Given the description of an element on the screen output the (x, y) to click on. 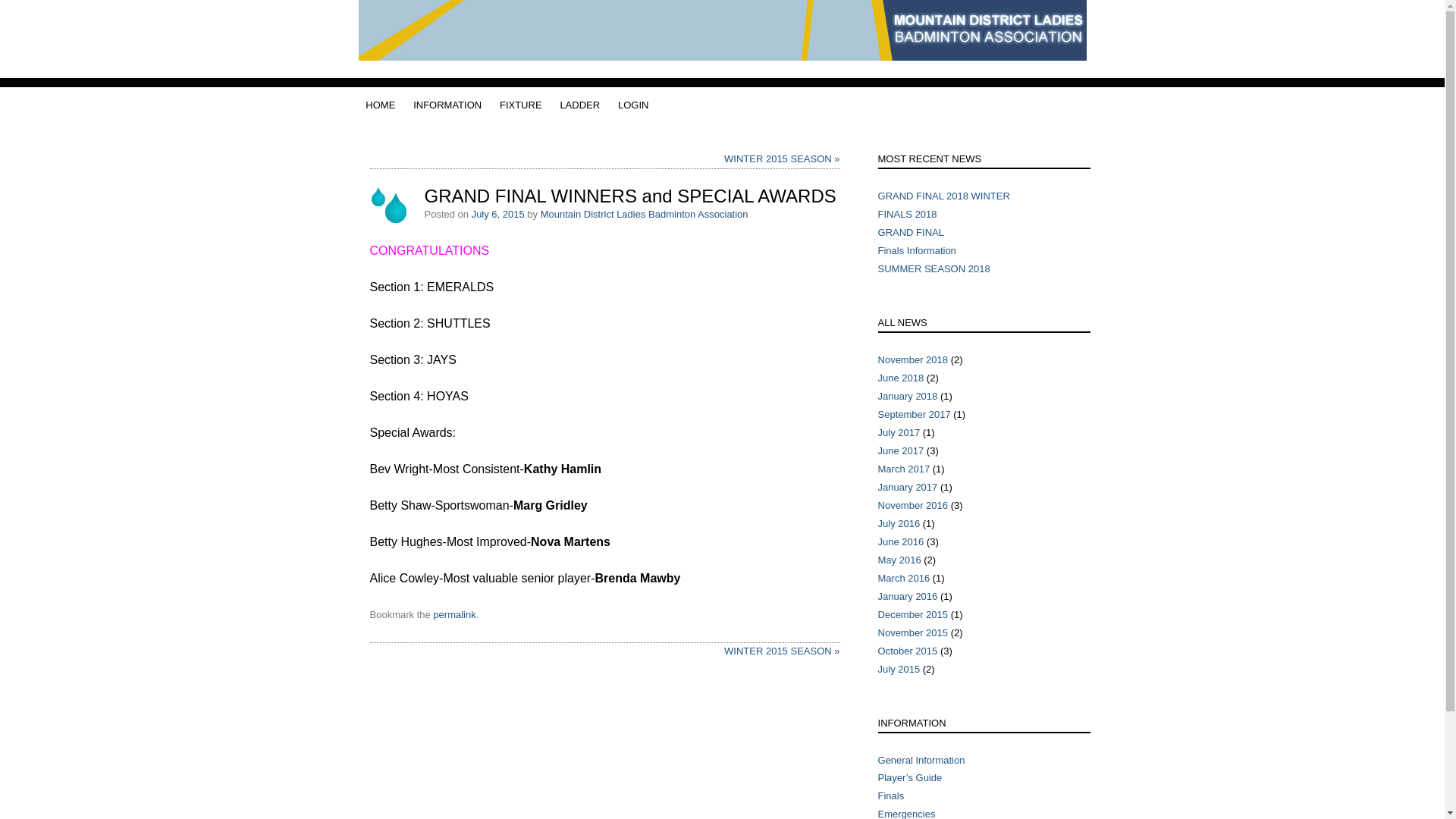
LOGIN Element type: text (633, 104)
Finals Information Element type: text (917, 250)
HOME Element type: text (380, 104)
GRAND FINAL Element type: text (911, 232)
FIXTURE Element type: text (520, 104)
January 2018 Element type: text (908, 395)
Mountain District Ladies Badminton Association Element type: text (644, 213)
October 2015 Element type: text (908, 650)
July 6, 2015 Element type: text (497, 213)
January 2016 Element type: text (908, 596)
November 2015 Element type: text (913, 632)
January 2017 Element type: text (908, 486)
June 2018 Element type: text (901, 377)
July 2017 Element type: text (899, 432)
May 2016 Element type: text (899, 559)
September 2017 Element type: text (914, 414)
December 2015 Element type: text (913, 614)
June 2016 Element type: text (901, 541)
March 2016 Element type: text (904, 577)
July 2016 Element type: text (899, 523)
Mountain District Ladies Badminton Association Element type: hover (721, 56)
WINTER 2015 SEASON Element type: text (781, 158)
FINALS 2018 Element type: text (907, 213)
July 2015 Element type: text (899, 668)
LADDER Element type: text (579, 104)
General Information Element type: text (921, 759)
June 2017 Element type: text (901, 450)
GRAND FINAL 2018 WINTER Element type: text (944, 195)
Finals Element type: text (891, 795)
March 2017 Element type: text (904, 468)
SUMMER SEASON 2018 Element type: text (934, 268)
WINTER 2015 SEASON Element type: text (781, 650)
permalink Element type: text (454, 614)
INFORMATION Element type: text (447, 104)
November 2018 Element type: text (913, 359)
November 2016 Element type: text (913, 505)
